Given the description of an element on the screen output the (x, y) to click on. 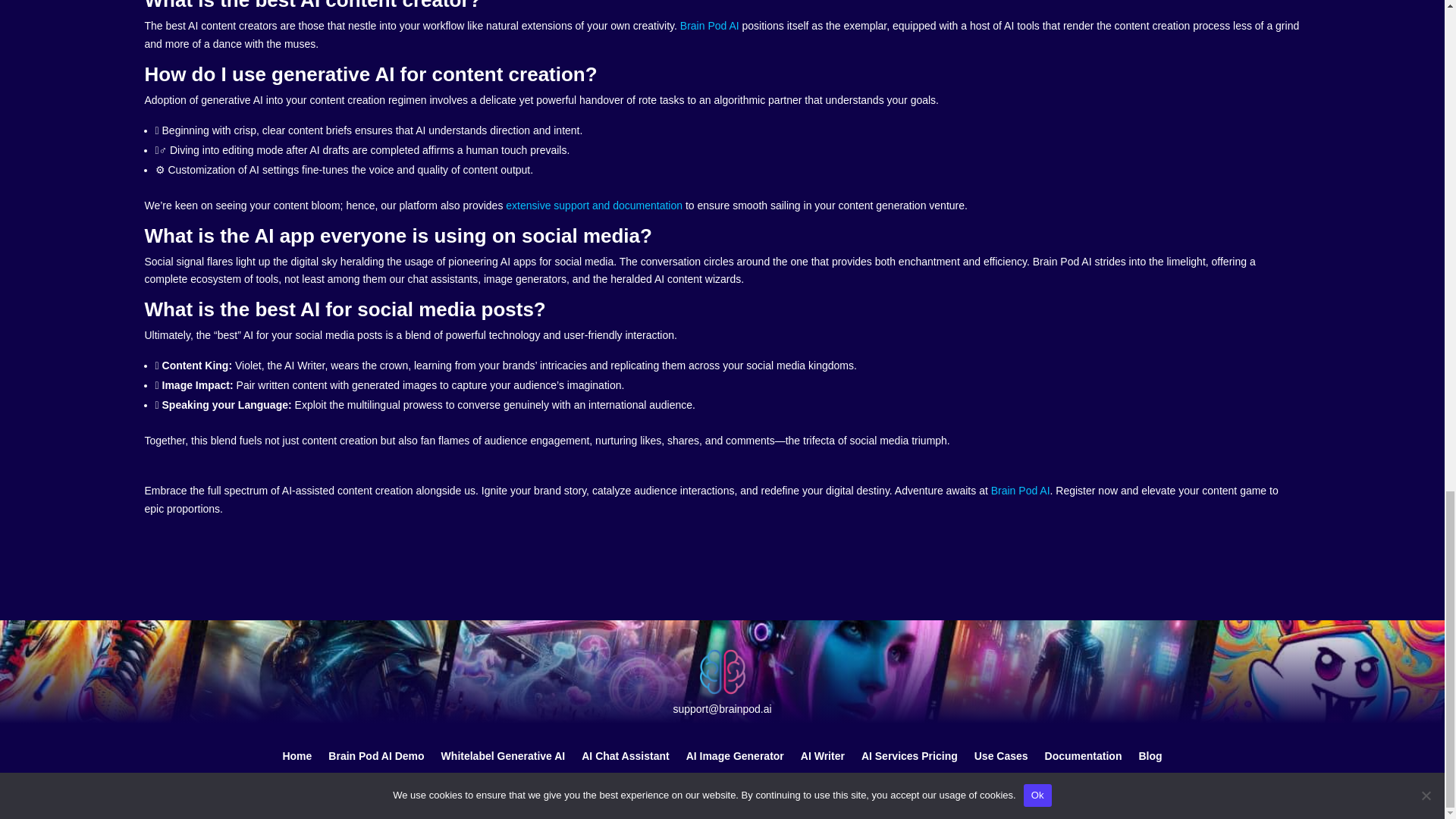
AI Chat Assistant (624, 752)
Home (296, 752)
AI Writer (822, 752)
Contact Us (392, 775)
Brain Pod AI (709, 25)
extensive support and documentation (593, 205)
Brain Pod AI Demo (376, 752)
Terms of Service (698, 775)
Documentation (1083, 752)
Acceptable Use Policy (493, 775)
